Given the description of an element on the screen output the (x, y) to click on. 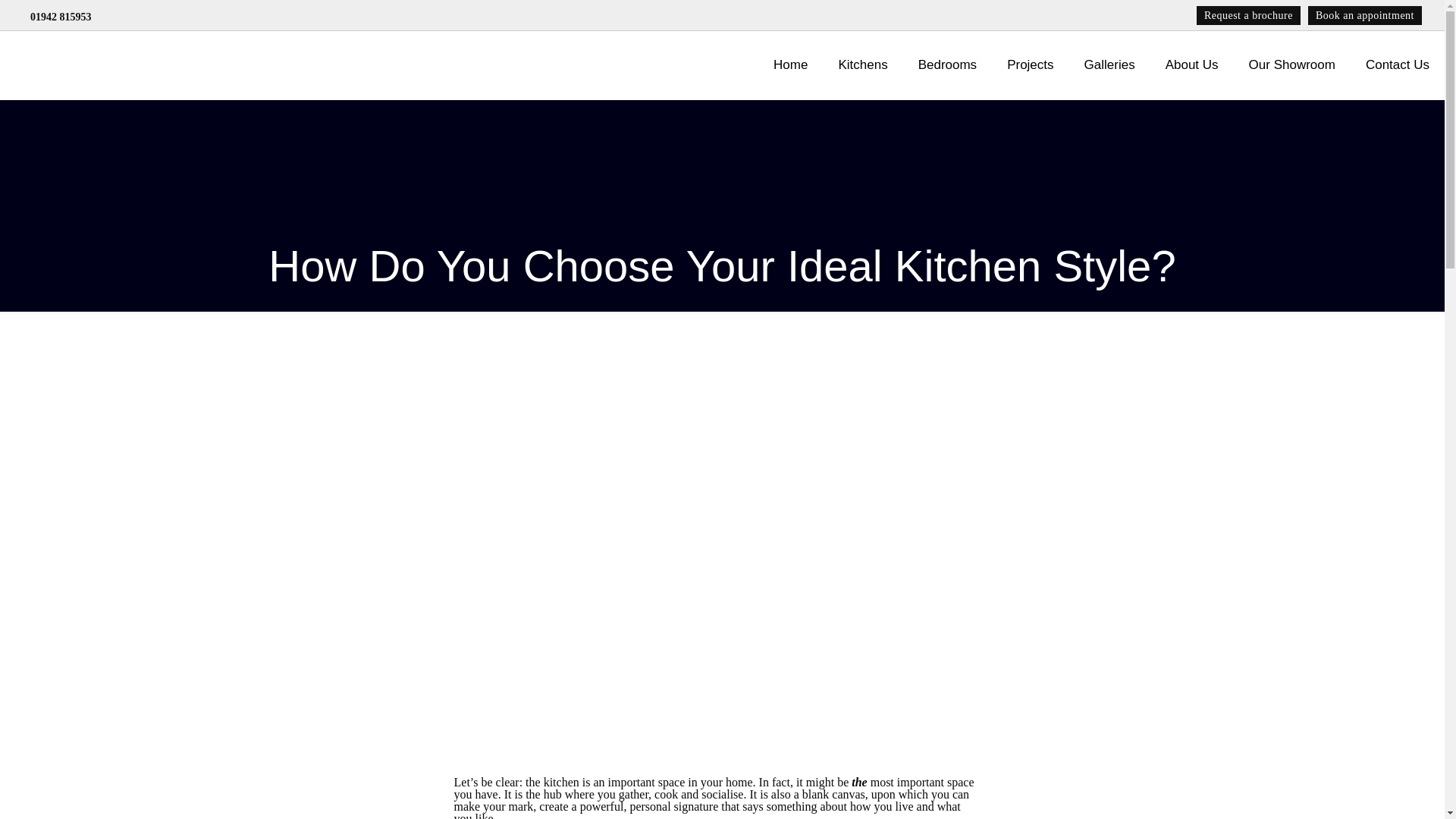
01942 815953 (60, 16)
Galleries (1109, 65)
About Us (1191, 65)
Request a brochure (1248, 15)
AD3 Design (90, 65)
Book an appointment (1364, 15)
Our Showroom (1292, 65)
Projects (1029, 65)
Home (790, 65)
Kitchens (862, 65)
